Given the description of an element on the screen output the (x, y) to click on. 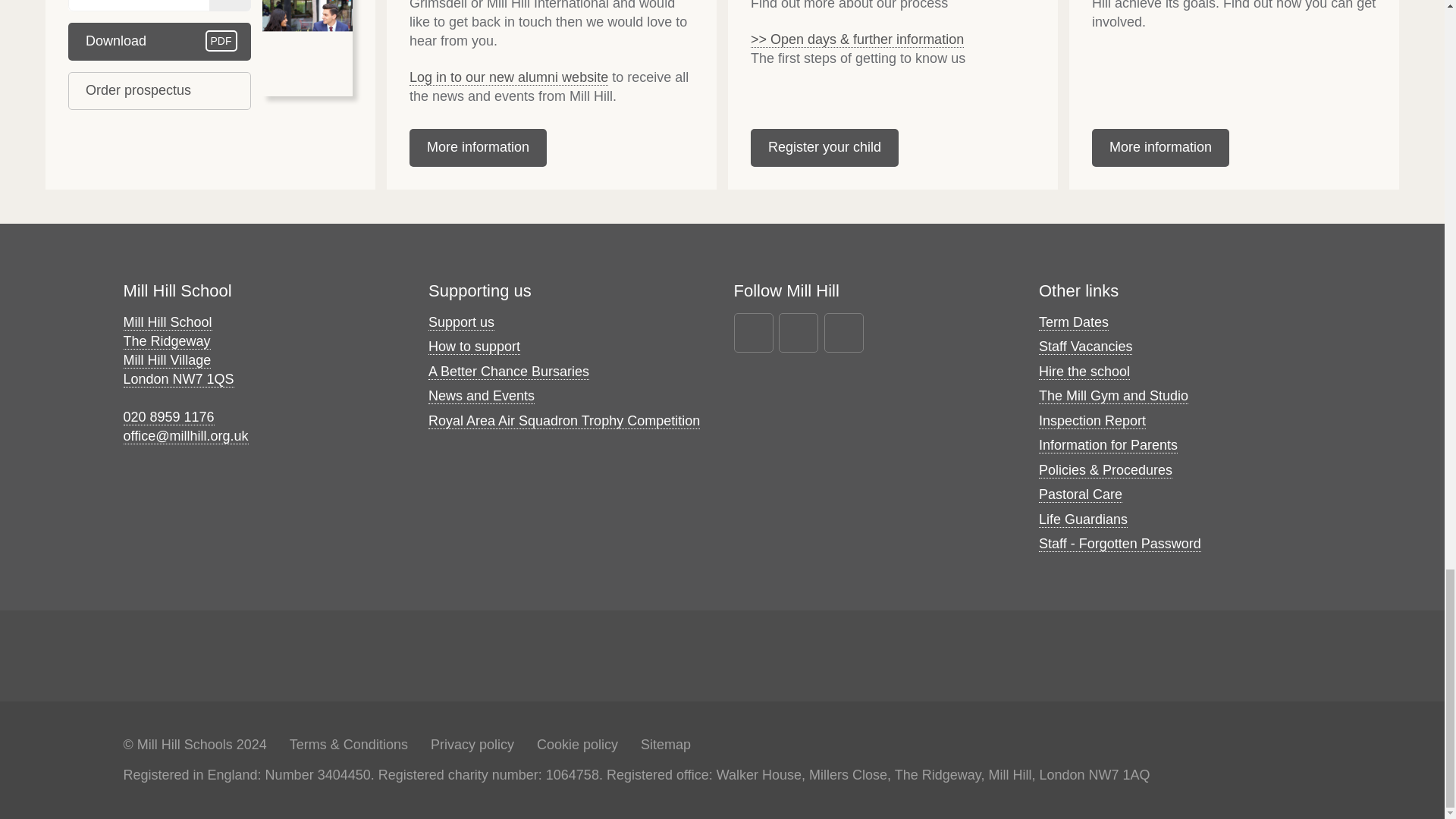
Order prospectus (159, 90)
Log in to our new alumni website (508, 77)
